Given the description of an element on the screen output the (x, y) to click on. 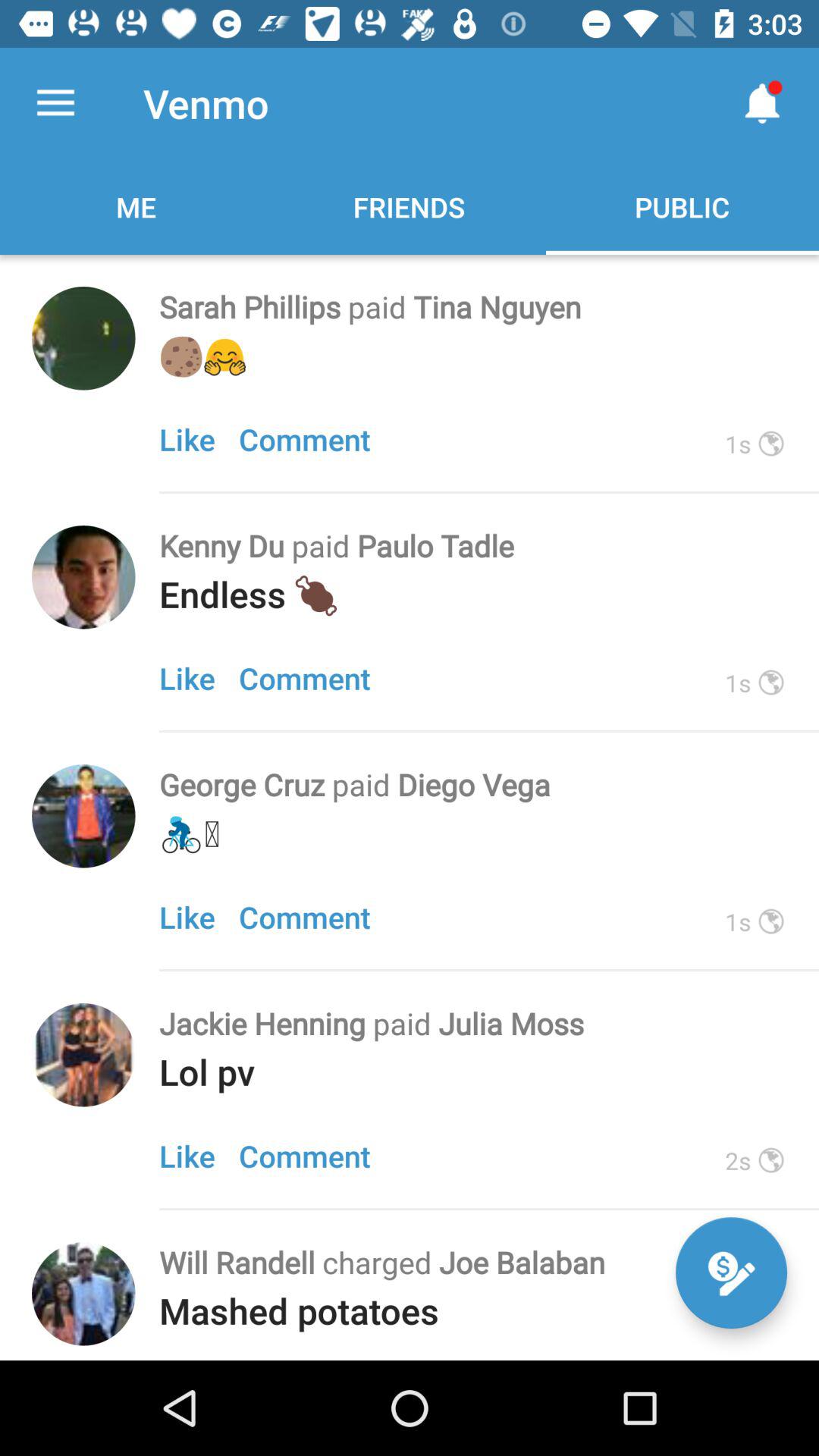
share the article (83, 577)
